Given the description of an element on the screen output the (x, y) to click on. 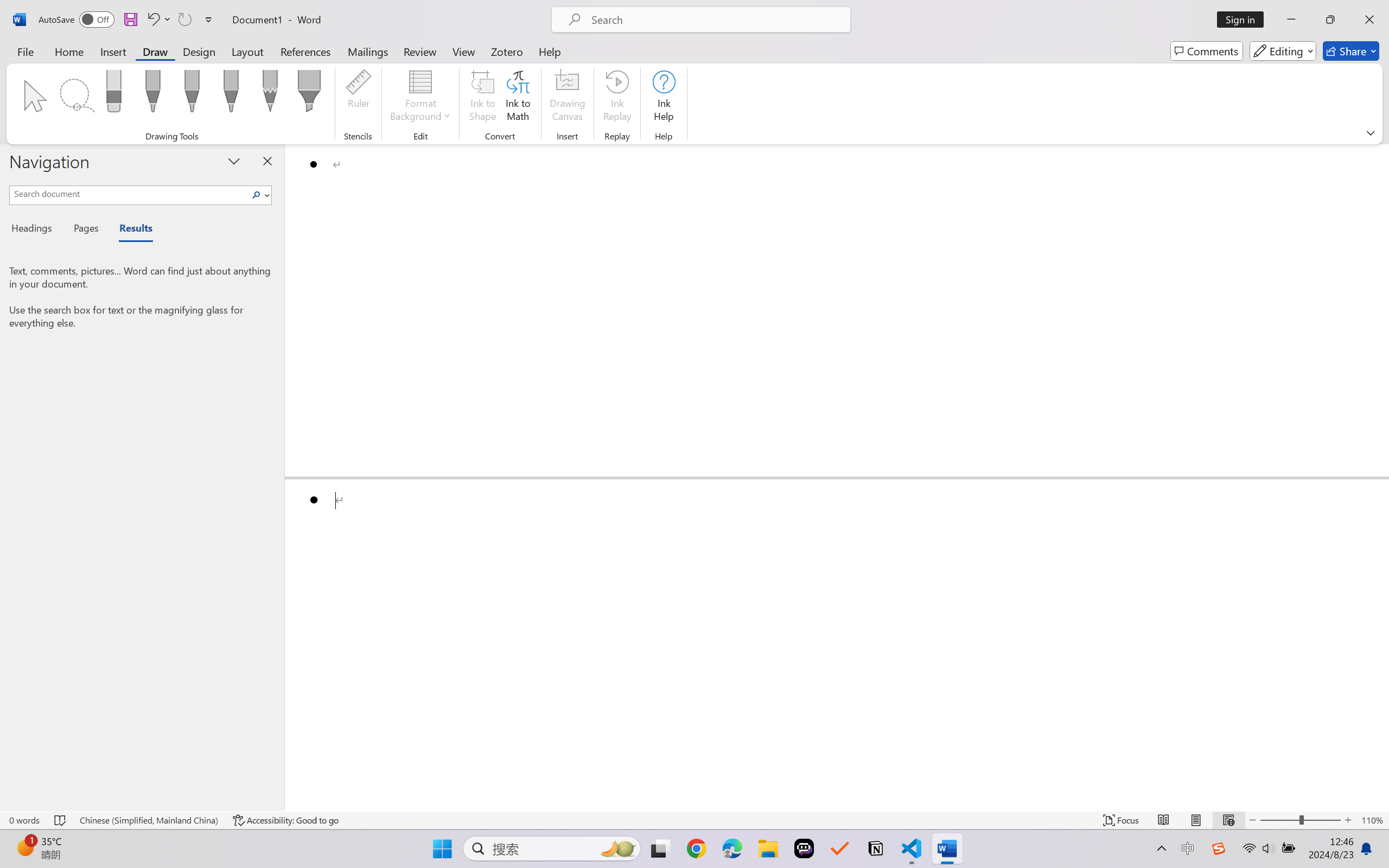
Can't Repeat (184, 19)
Pages (85, 229)
Pen: Red, 0.5 mm (191, 94)
Undo Bullet Default (152, 19)
